Given the description of an element on the screen output the (x, y) to click on. 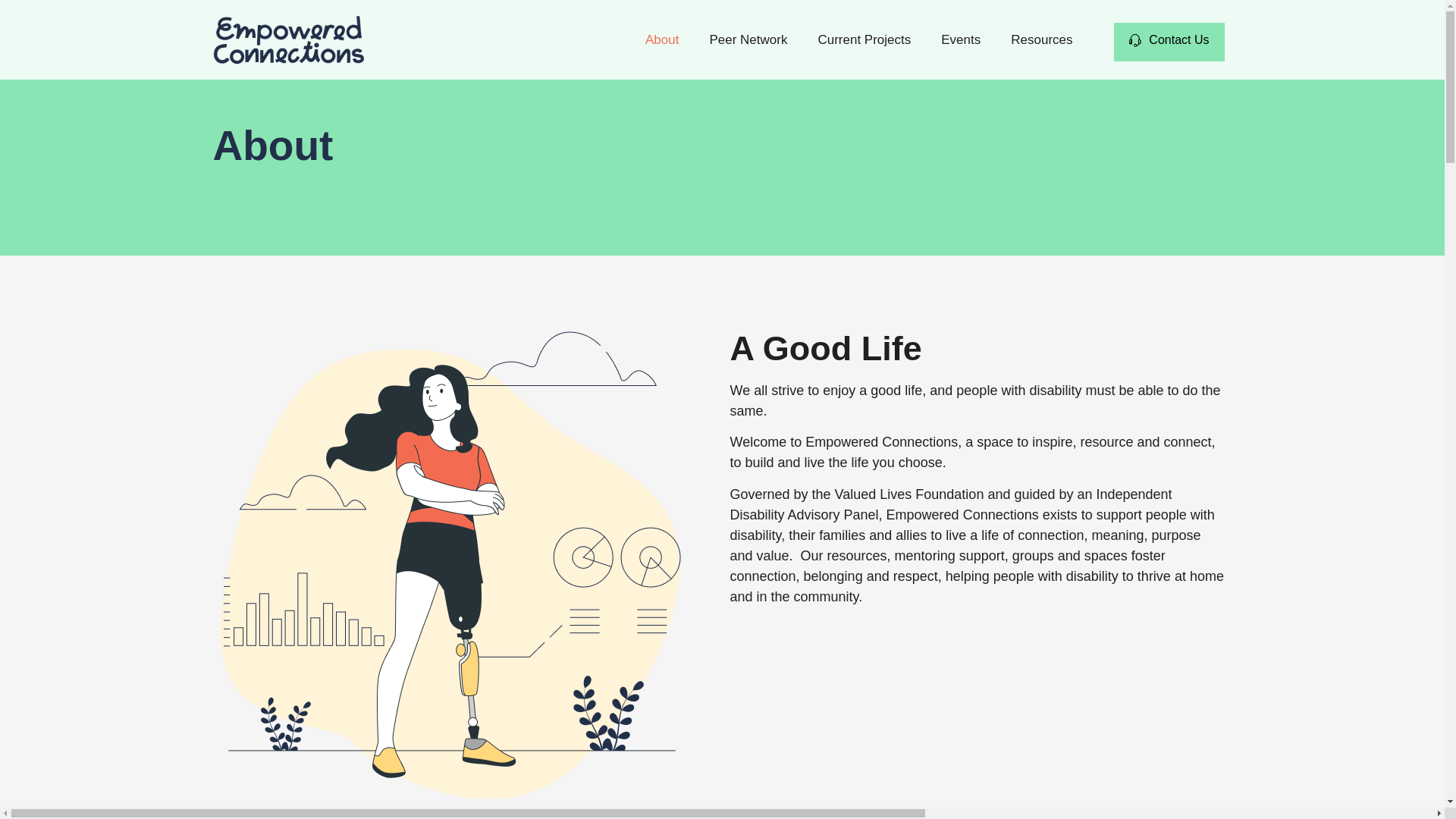
Contact Us (1168, 41)
About (662, 39)
Resources (1041, 39)
Current Projects (864, 39)
Events (960, 39)
Peer Network (748, 39)
